Given the description of an element on the screen output the (x, y) to click on. 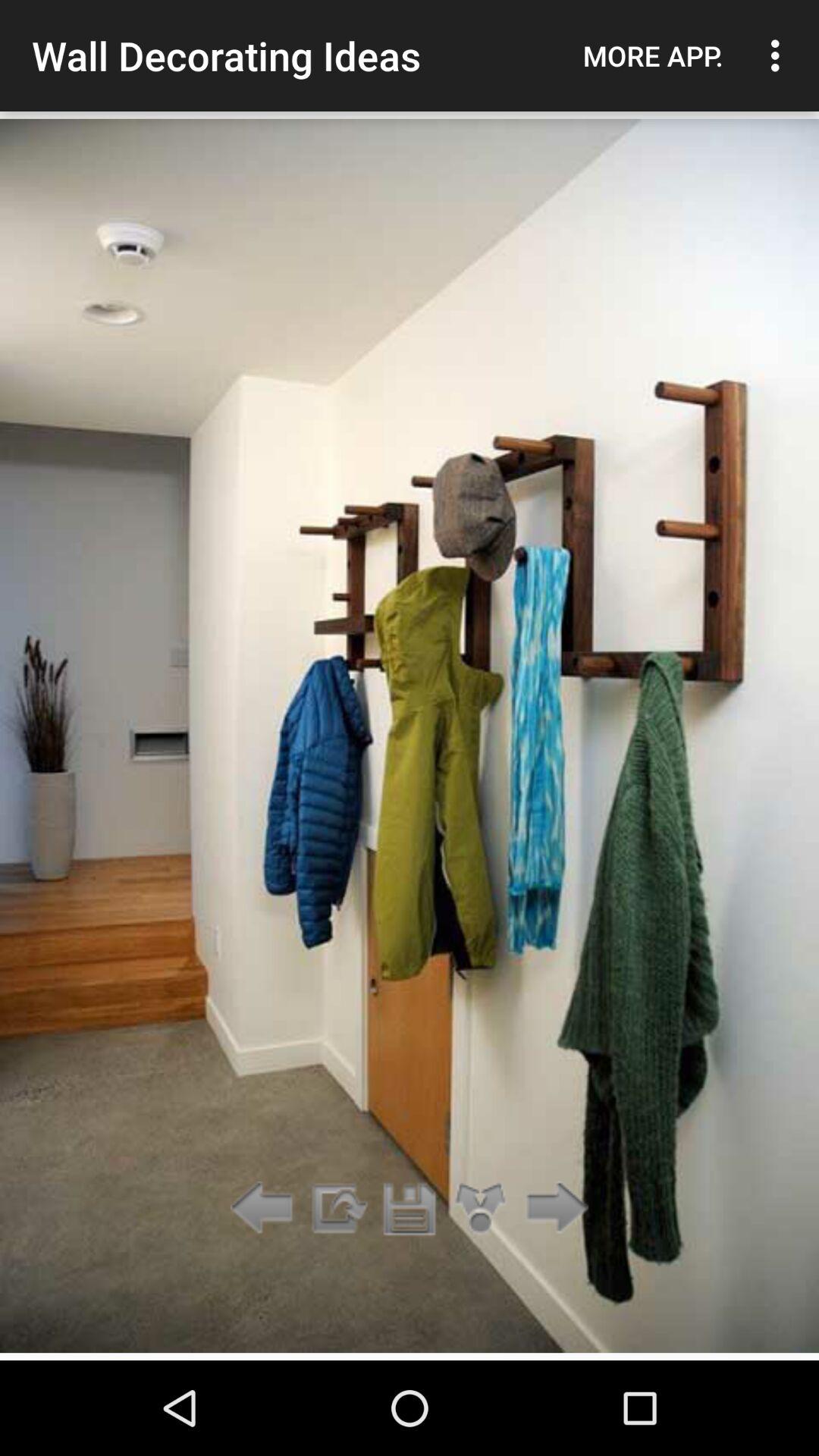
select the item next to more app. icon (779, 55)
